Given the description of an element on the screen output the (x, y) to click on. 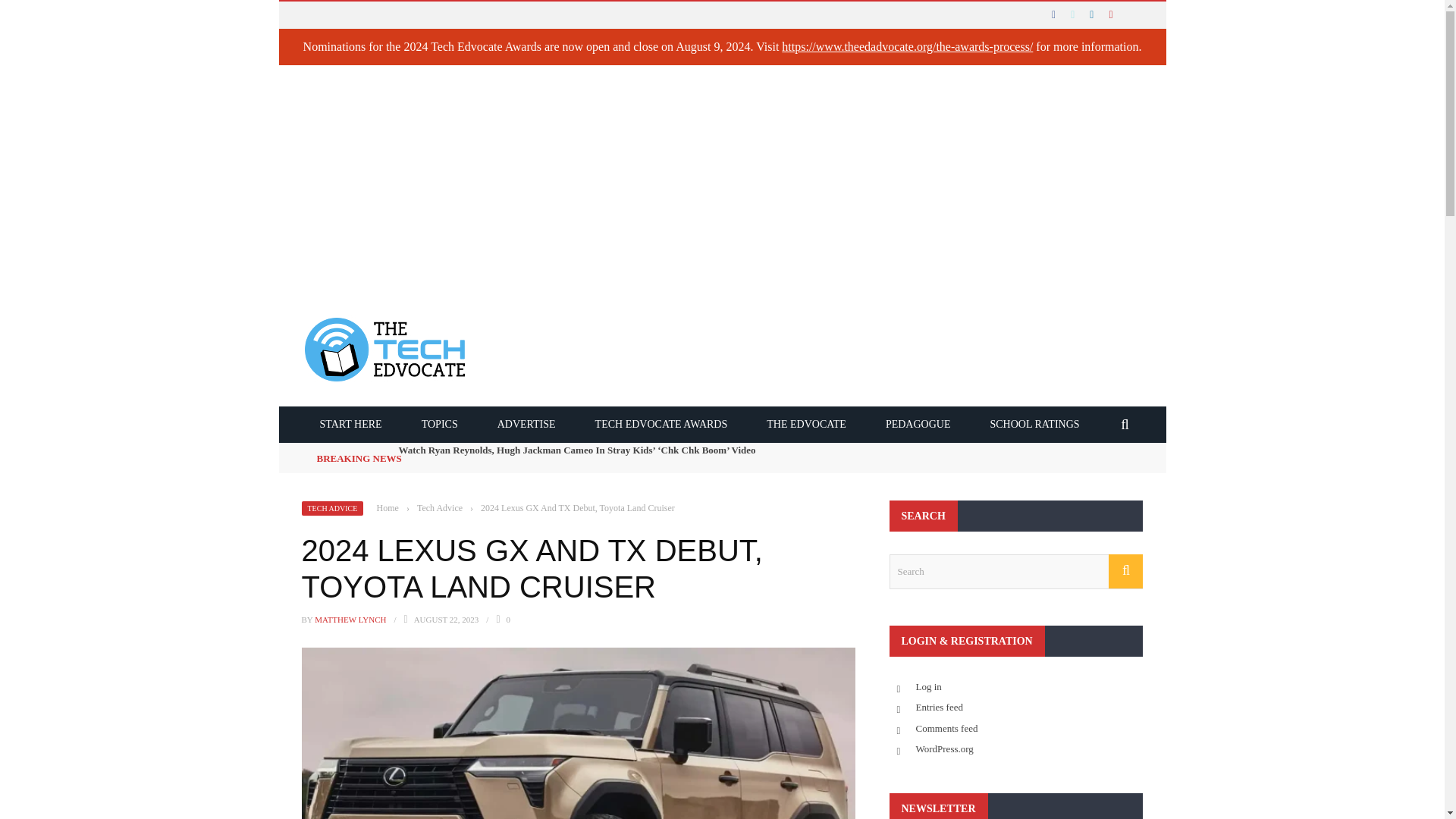
Search (1015, 571)
